Given the description of an element on the screen output the (x, y) to click on. 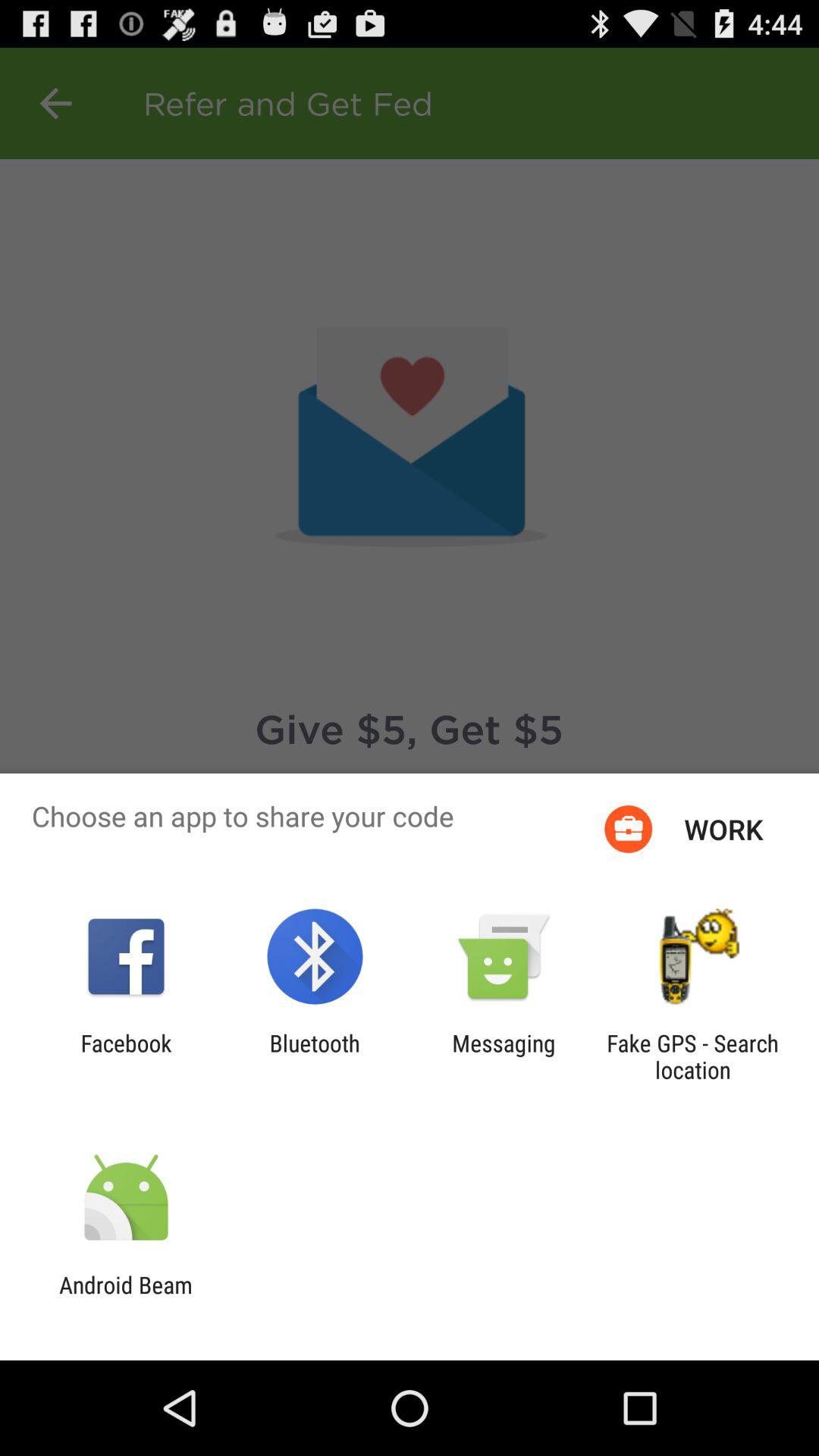
tap item next to fake gps search app (503, 1056)
